Given the description of an element on the screen output the (x, y) to click on. 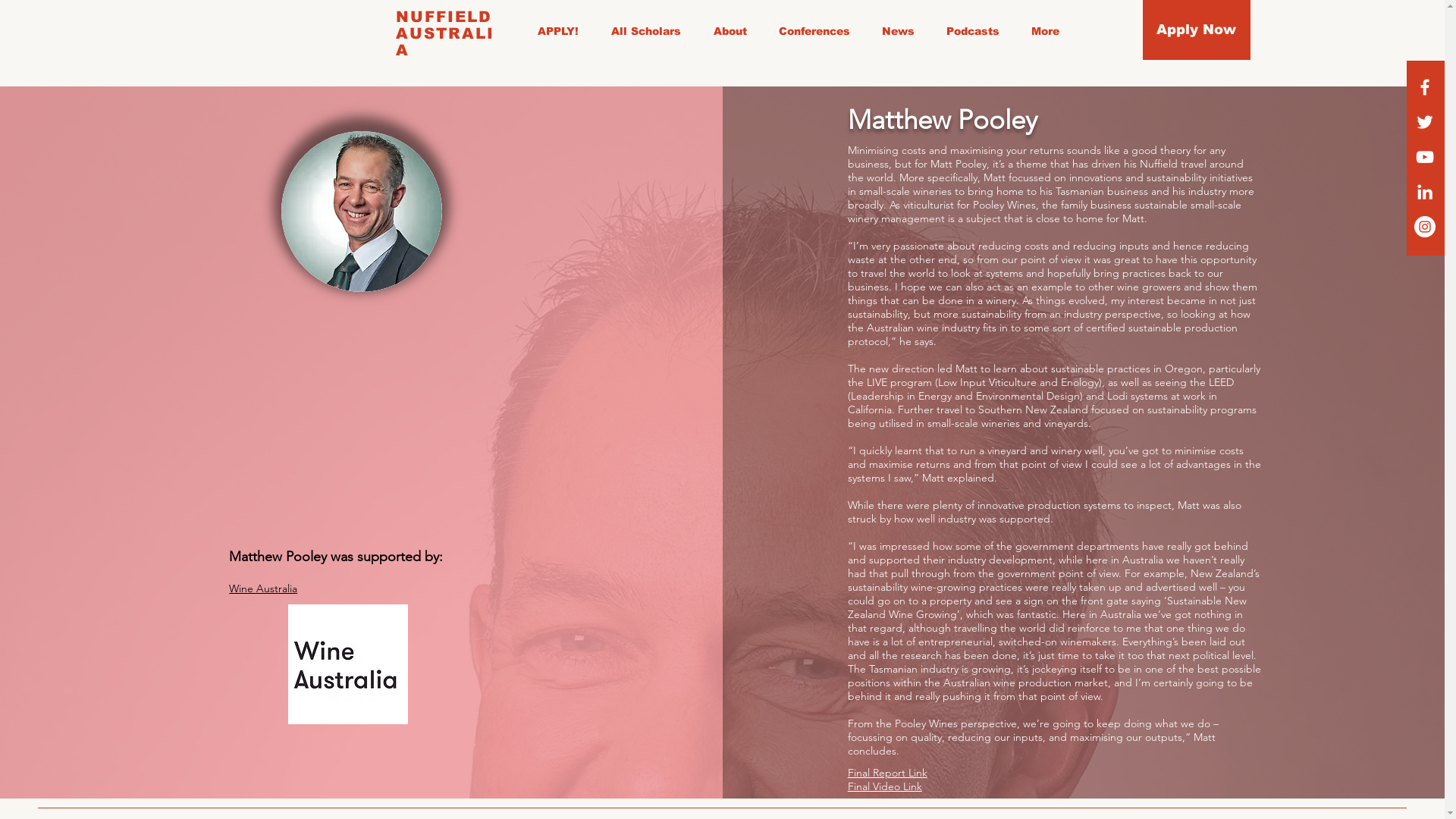
NUFFIELD  Element type: text (89, 27)
Final Video Link Element type: text (884, 786)
Final Report Link Element type: text (887, 772)
Wine Australia Element type: text (263, 588)
NUFFIELD Element type: text (443, 16)
APPLY! Element type: text (724, 29)
All Scholars Element type: text (650, 30)
Apply Now Element type: text (1196, 29)
News Element type: text (902, 30)
Apply Now Element type: text (1352, 26)
AUSTRALIA Element type: text (197, 27)
AUSTRALIA Element type: text (444, 41)
About Element type: text (734, 30)
About Element type: text (907, 29)
Thomas Hooke.jpeg.jpg Element type: hover (361, 211)
APPLY! Element type: text (562, 30)
Conferences Element type: text (818, 30)
Conferences Element type: text (997, 29)
All Scholars Element type: text (818, 29)
News Element type: text (1087, 29)
